Given the description of an element on the screen output the (x, y) to click on. 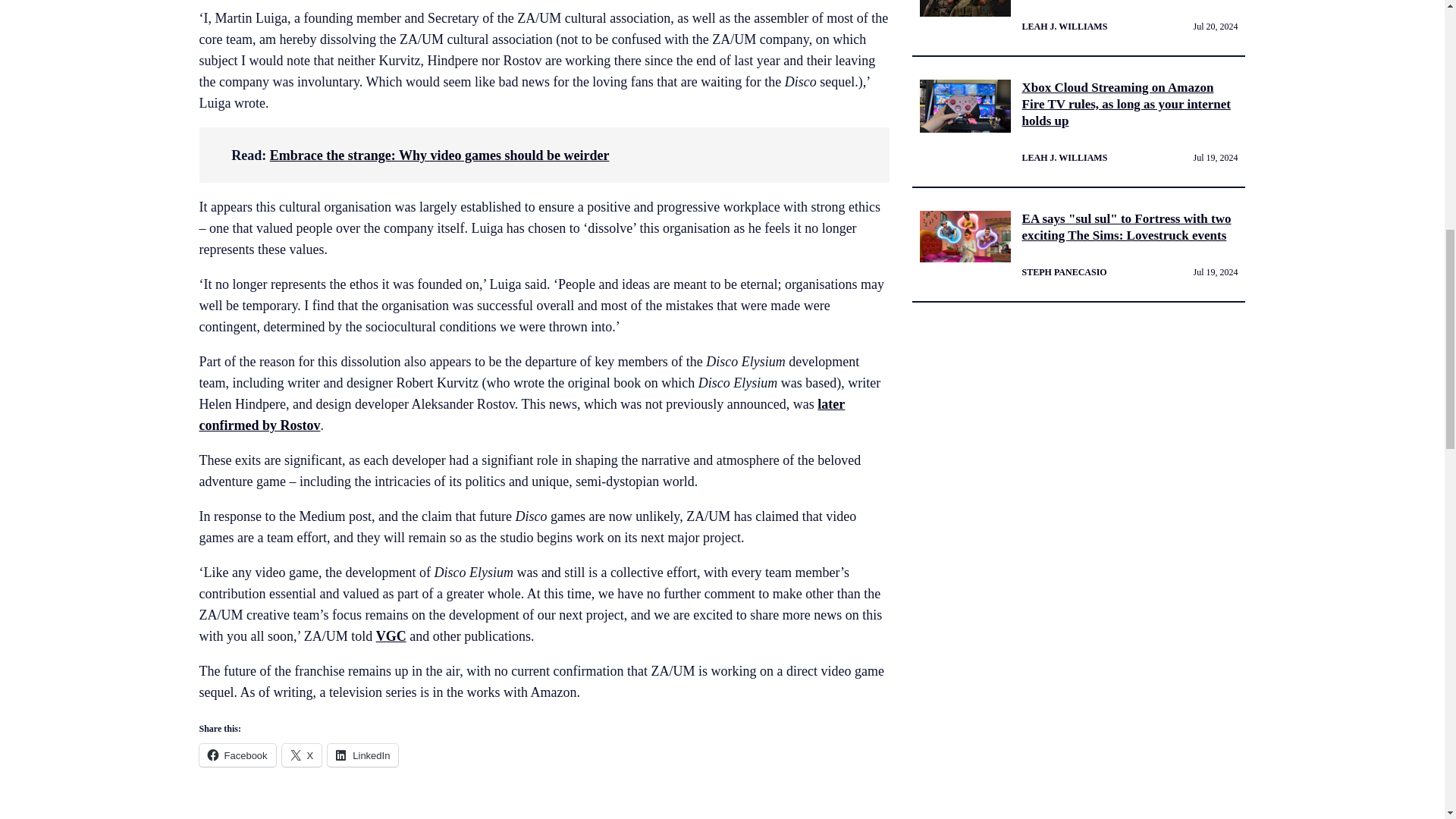
Click to share on X (301, 754)
Click to share on LinkedIn (362, 754)
Click to share on Facebook (236, 754)
